Given the description of an element on the screen output the (x, y) to click on. 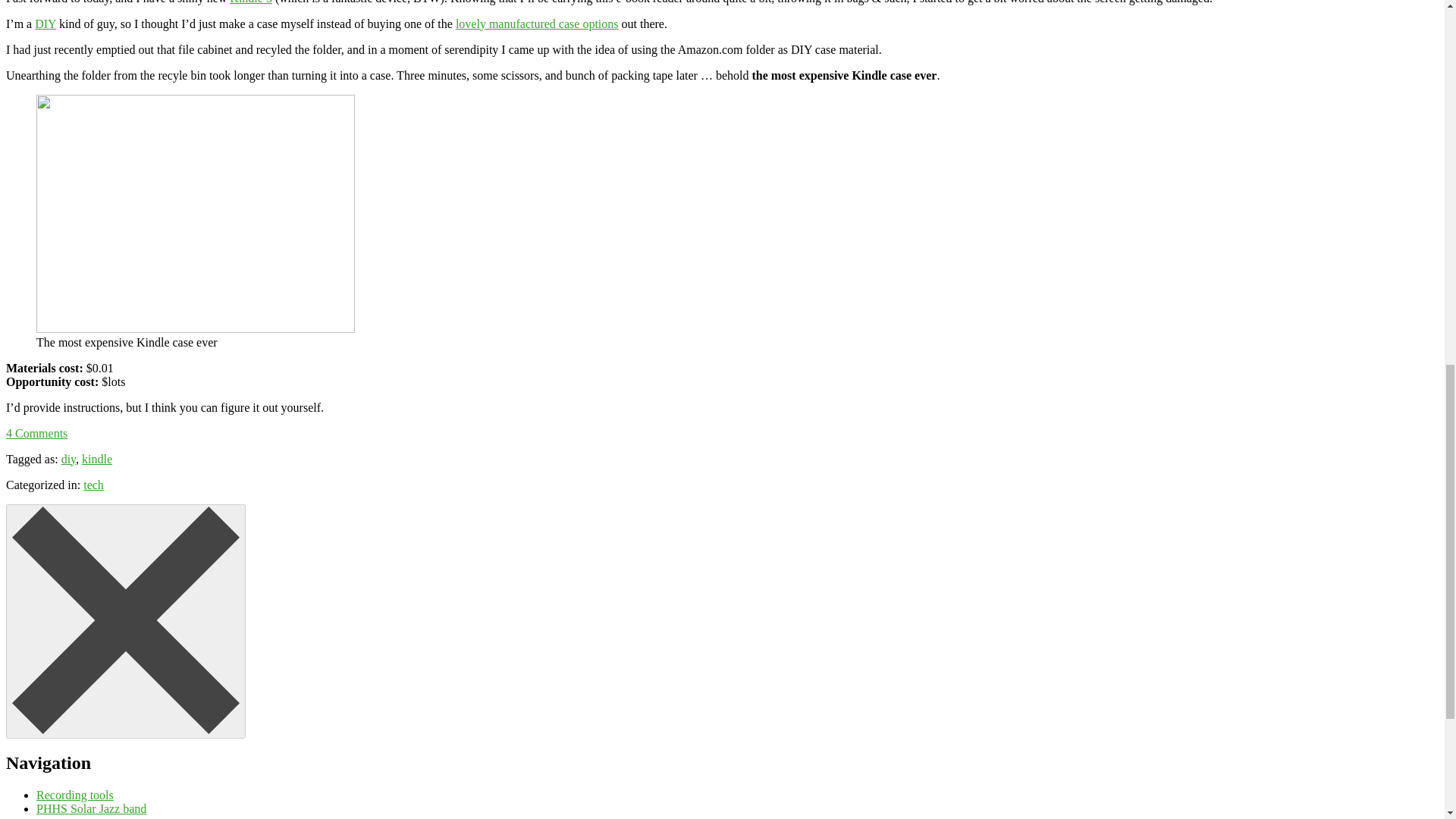
PHHS Solar Jazz band (91, 808)
4 Comments (35, 432)
most-expensive-kindle-case-ever (195, 213)
Kindle 3 (251, 2)
Recording tools (74, 794)
lovely manufactured case options (536, 23)
Hide sidebar (125, 621)
tech (92, 484)
DIY (45, 23)
diy (68, 459)
